Given the description of an element on the screen output the (x, y) to click on. 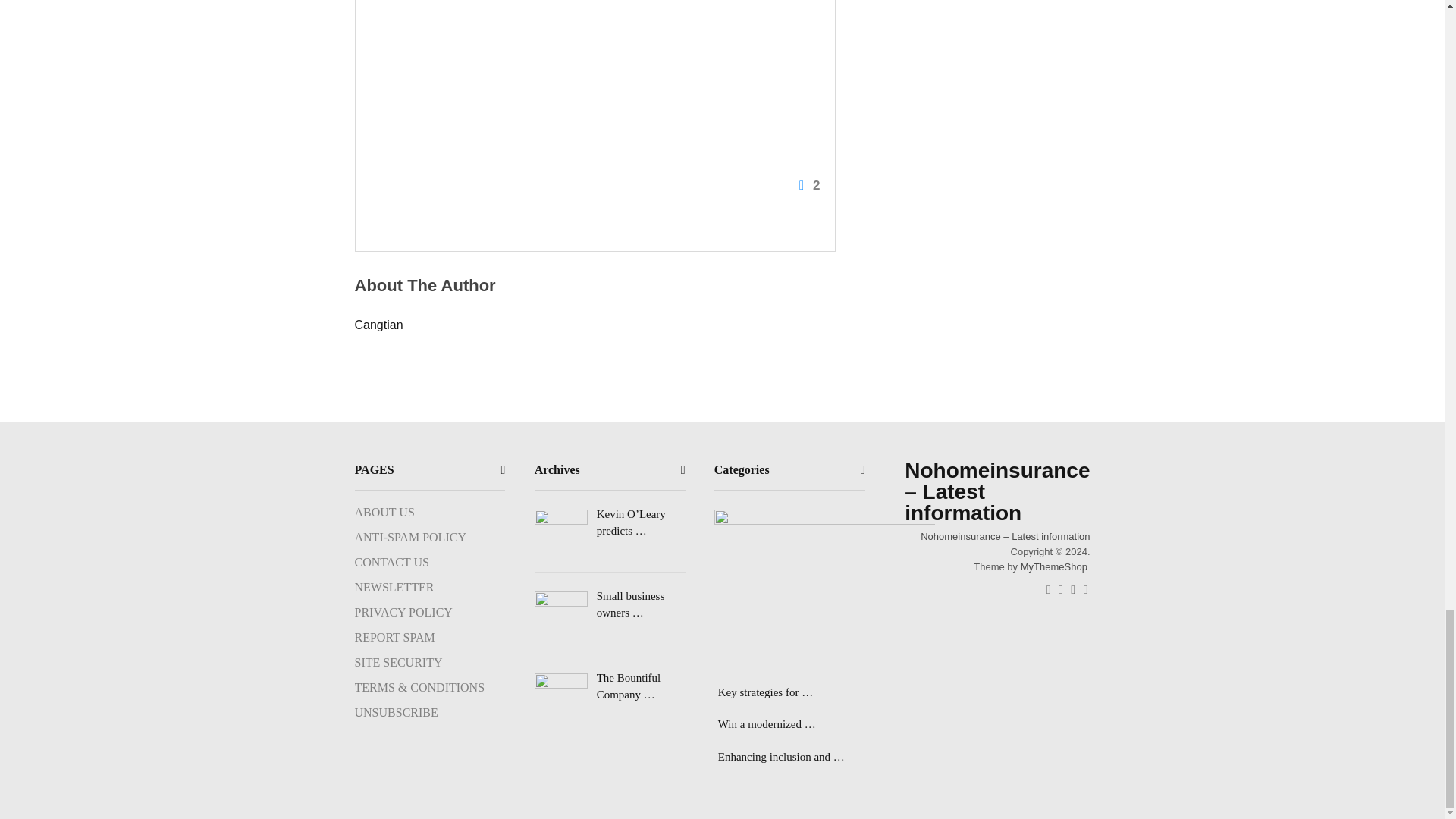
Insurance, Innovation, Automotive, Business, Lifestyle (1004, 536)
MyThemeShop (1053, 566)
2 (592, 100)
Cangtian (379, 324)
Small business owners say credit crunch post-SVB has arrived (609, 604)
